Given the description of an element on the screen output the (x, y) to click on. 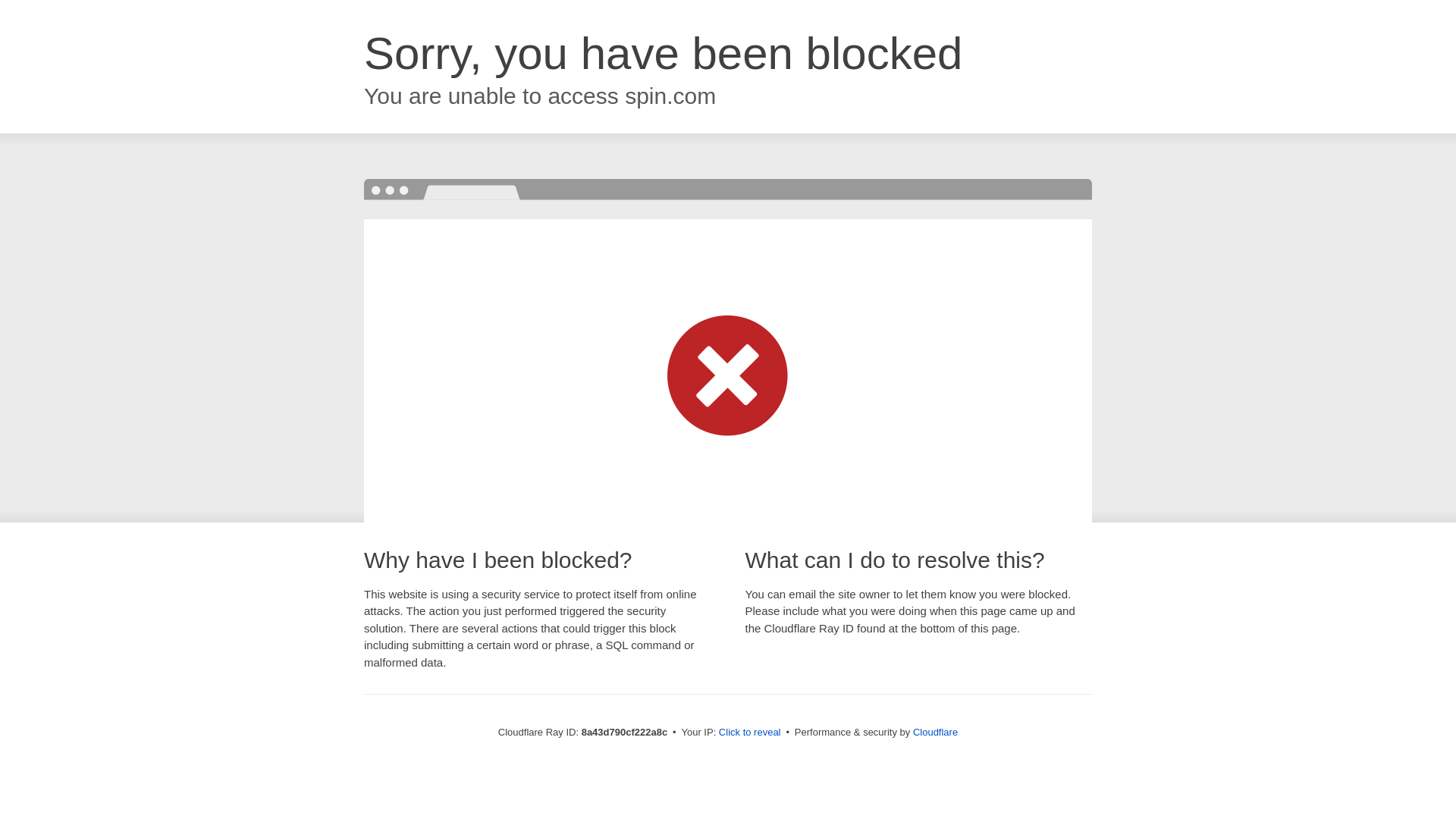
Cloudflare (935, 731)
Click to reveal (749, 732)
